Given the description of an element on the screen output the (x, y) to click on. 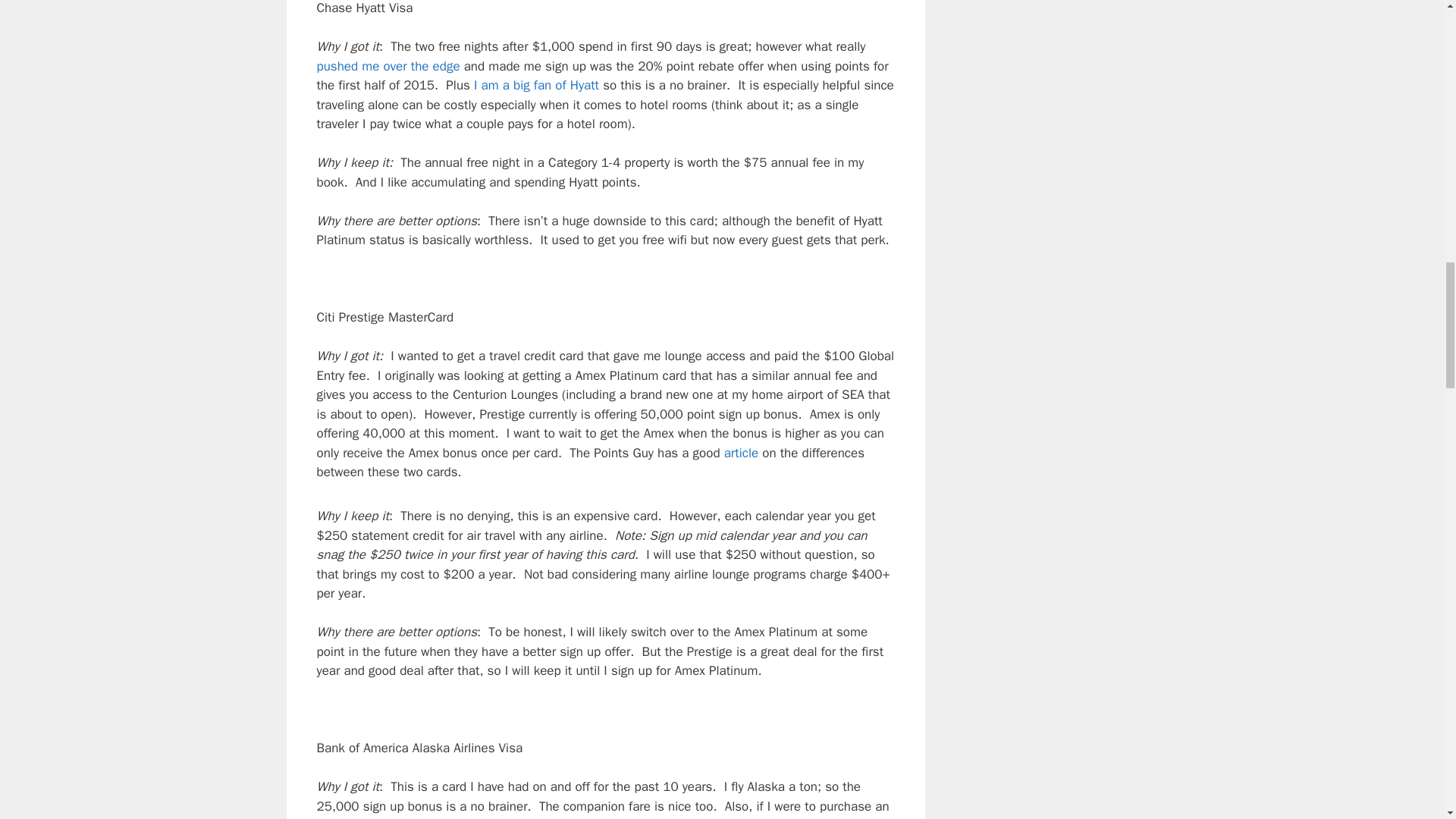
Hyatt Diamond Challenge 2015 (536, 84)
pushed me over the edge (388, 66)
Hyatt Credit Card through Chase Bank (388, 66)
article (740, 453)
I am a big fan of Hyatt (536, 84)
